Given the description of an element on the screen output the (x, y) to click on. 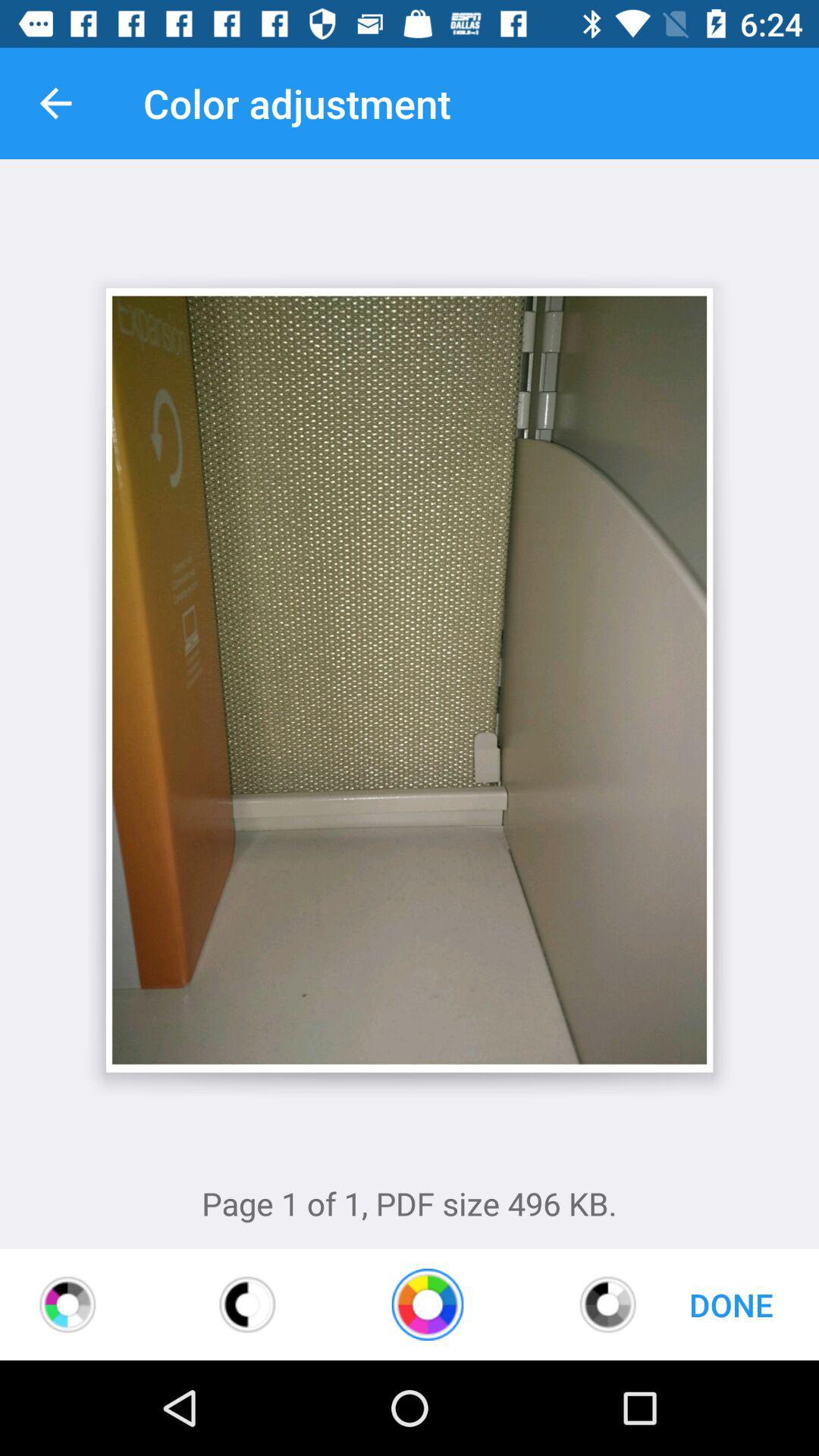
jump to the done item (731, 1304)
